Given the description of an element on the screen output the (x, y) to click on. 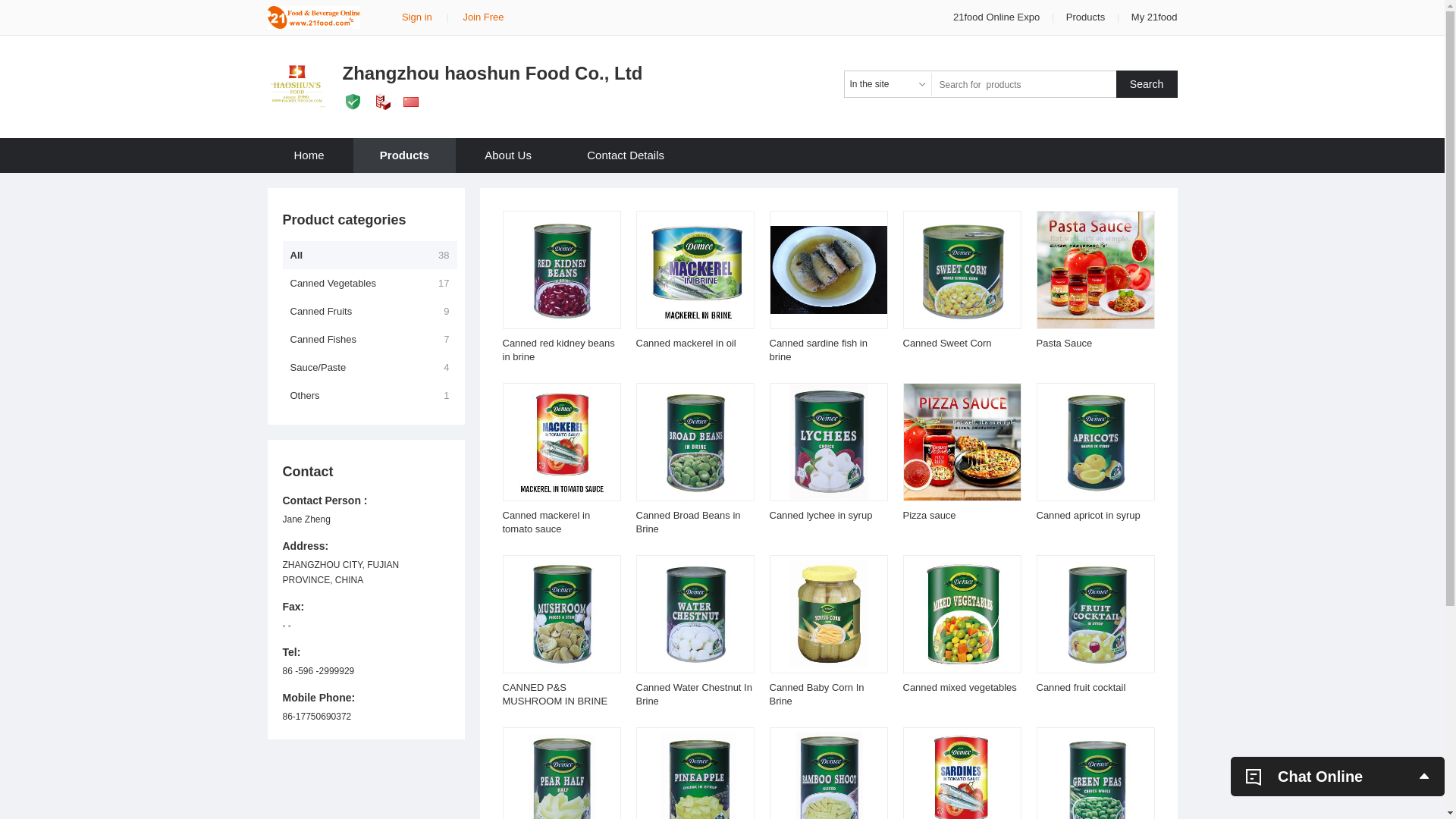
Contact Details Element type: text (625, 155)
CANNED P&S MUSHROOM IN BRINE Element type: text (554, 693)
Canned apricot in syrup Element type: text (1087, 514)
Canned Baby Corn In Brine Element type: text (815, 693)
Products Element type: text (404, 155)
Pizza sauce Element type: text (928, 514)
Sign in Element type: text (416, 16)
Canned lychee in syrup Element type: text (820, 514)
Search Element type: text (1146, 83)
Canned Sweet Corn Element type: text (946, 342)
Canned red kidney beans in brine Element type: text (558, 349)
About Us Element type: text (508, 155)
Pasta Sauce Element type: text (1063, 342)
Canned mackerel in oil Element type: text (685, 342)
Canned sardine fish in brine Element type: text (817, 349)
My 21food Element type: text (1154, 16)
Canned Broad Beans in Brine Element type: text (687, 521)
Canned mackerel in tomato sauce Element type: text (545, 521)
Home Element type: text (308, 155)
Products Element type: text (1085, 16)
Canned Water Chestnut In Brine Element type: text (693, 693)
21food Online Expo Element type: text (997, 16)
Join Free Element type: text (482, 16)
Canned fruit cocktail Element type: text (1080, 687)
Canned mixed vegetables Element type: text (959, 687)
